Given the description of an element on the screen output the (x, y) to click on. 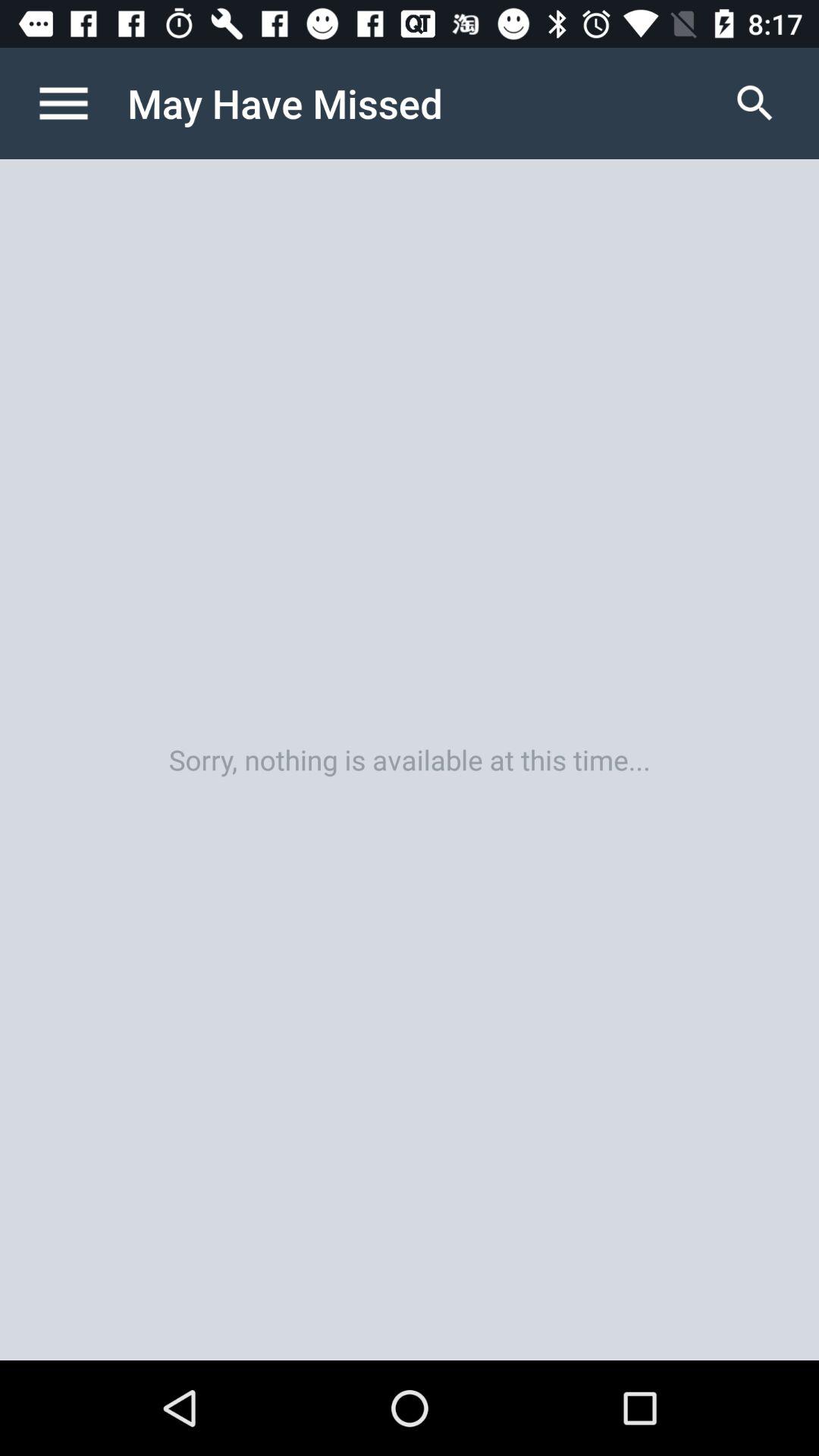
launch icon next to the may have missed icon (79, 103)
